Given the description of an element on the screen output the (x, y) to click on. 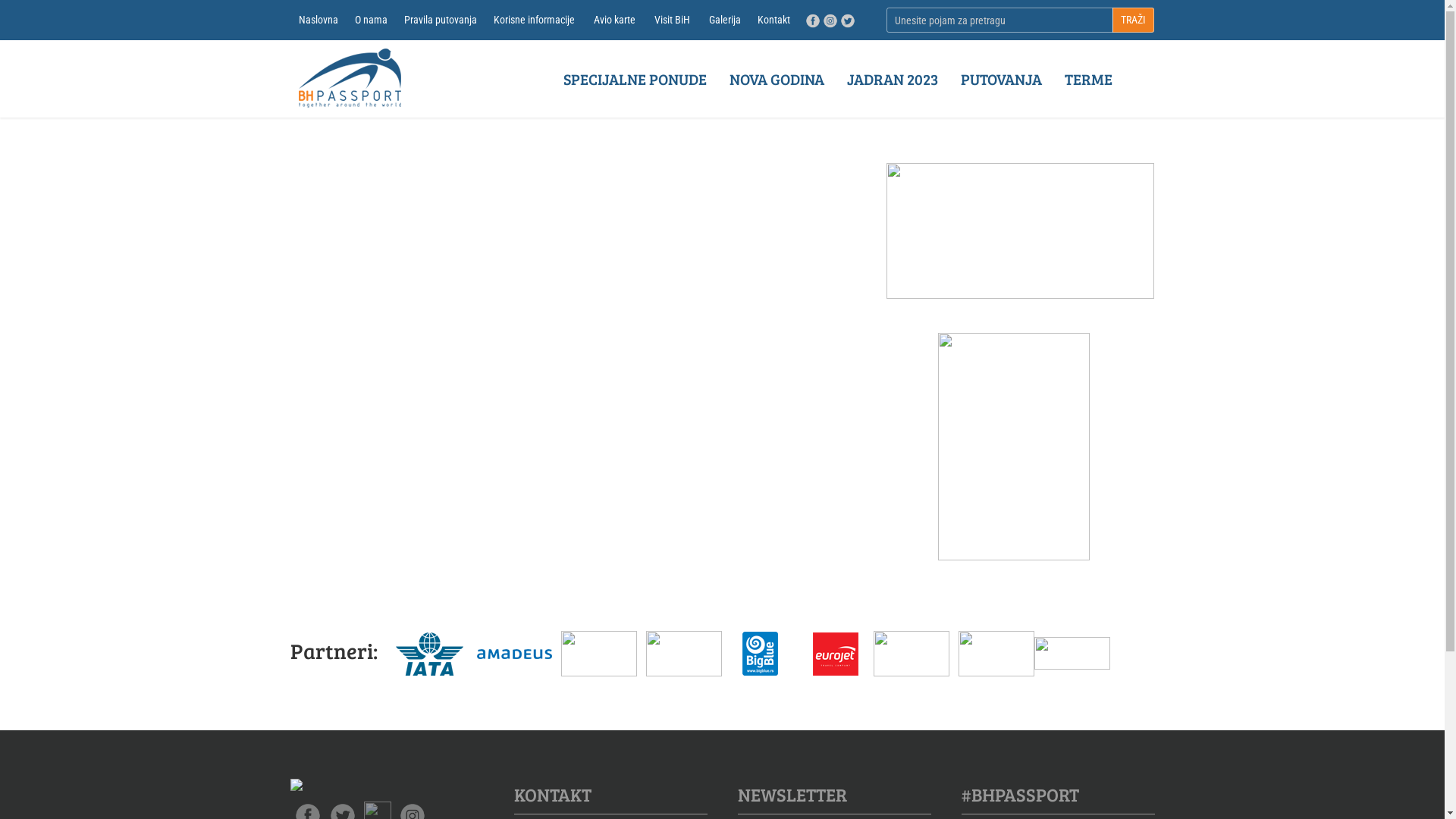
Korisne informacije Element type: text (534, 19)
PUTOVANJA Element type: text (1001, 78)
Avio karte Element type: text (614, 19)
JADRAN 2023 Element type: text (892, 78)
SPECIJALNE PONUDE Element type: text (635, 78)
Pravila putovanja Element type: text (440, 19)
Visit BiH Element type: text (672, 19)
O nama Element type: text (370, 19)
TERME Element type: text (1087, 78)
Kontakt Element type: text (773, 19)
NOVA GODINA Element type: text (775, 78)
Naslovna Element type: text (317, 19)
Galerija Element type: text (724, 19)
